Given the description of an element on the screen output the (x, y) to click on. 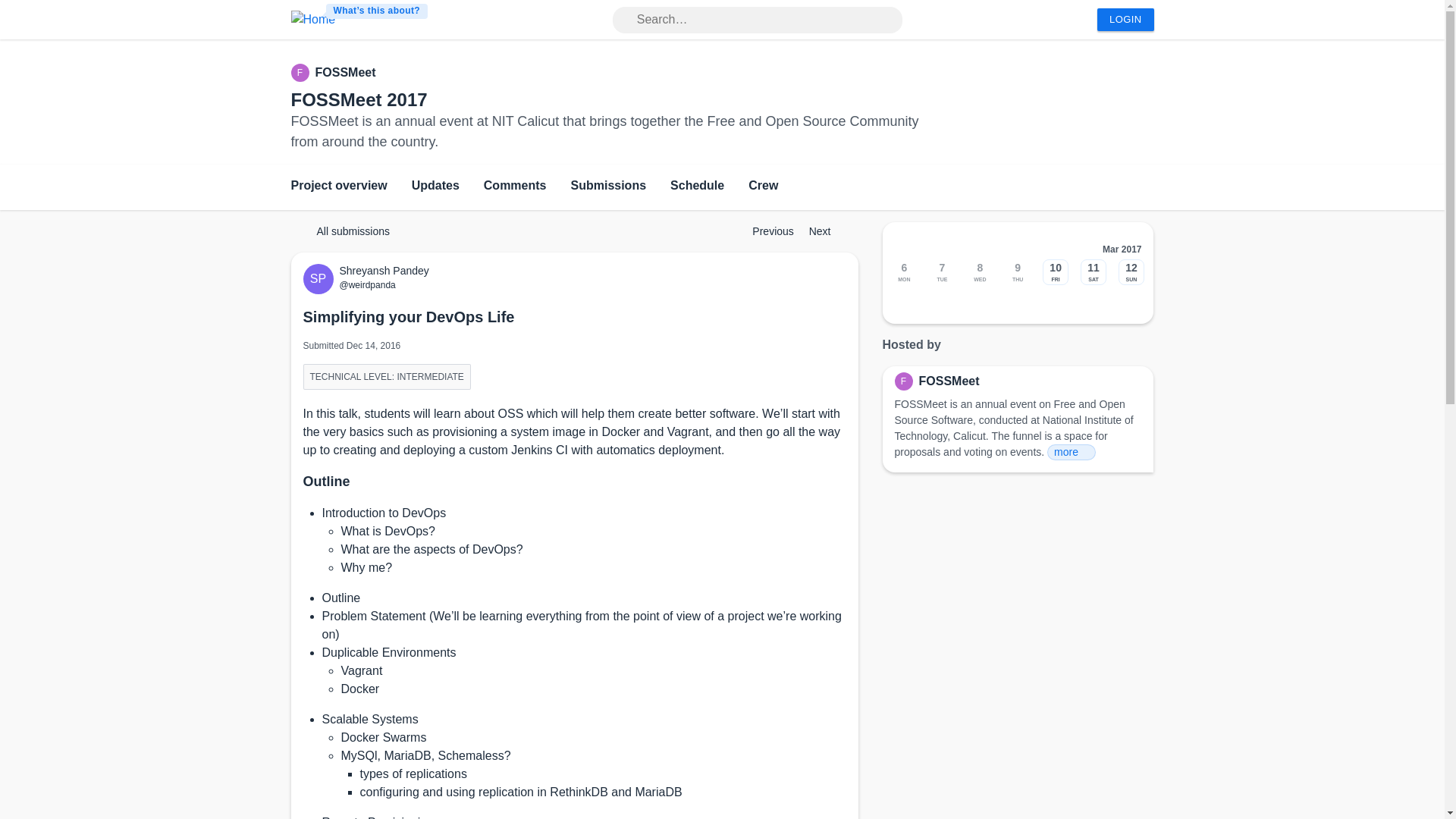
Previous (766, 231)
FOSSMeet 2017 (359, 99)
SP (320, 278)
Comments (515, 186)
Project overview (339, 186)
All submissions (346, 230)
Next (827, 231)
F (303, 72)
LOGIN (1125, 19)
Crew (762, 186)
Updates (436, 186)
FOSSMeet (345, 72)
Schedule (696, 186)
Outline (326, 481)
Submissions (608, 186)
